Given the description of an element on the screen output the (x, y) to click on. 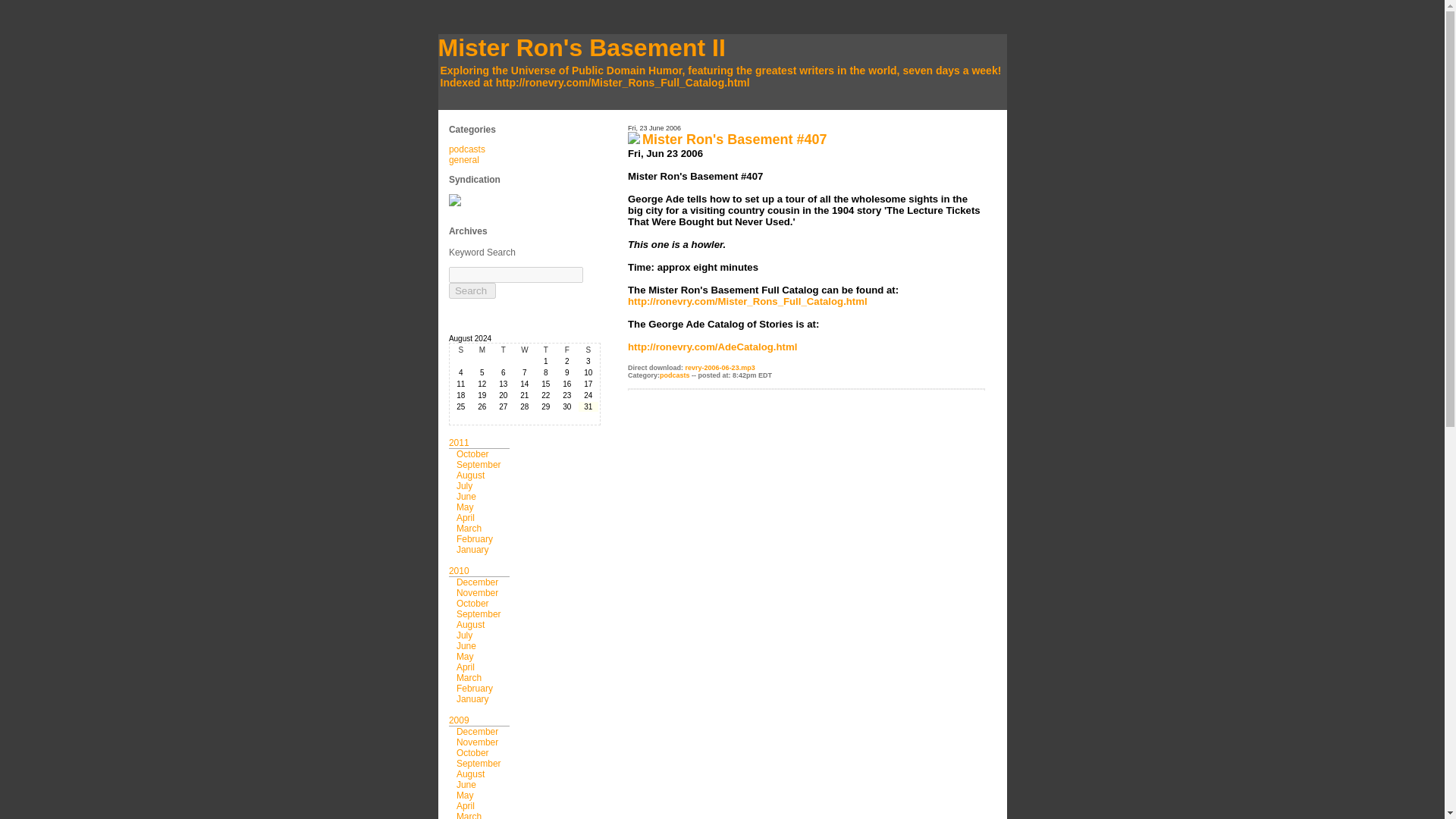
September (478, 464)
April (465, 666)
January (473, 698)
December (477, 731)
December (477, 582)
July (464, 634)
January (473, 549)
March (469, 815)
August (470, 475)
May (465, 656)
